Given the description of an element on the screen output the (x, y) to click on. 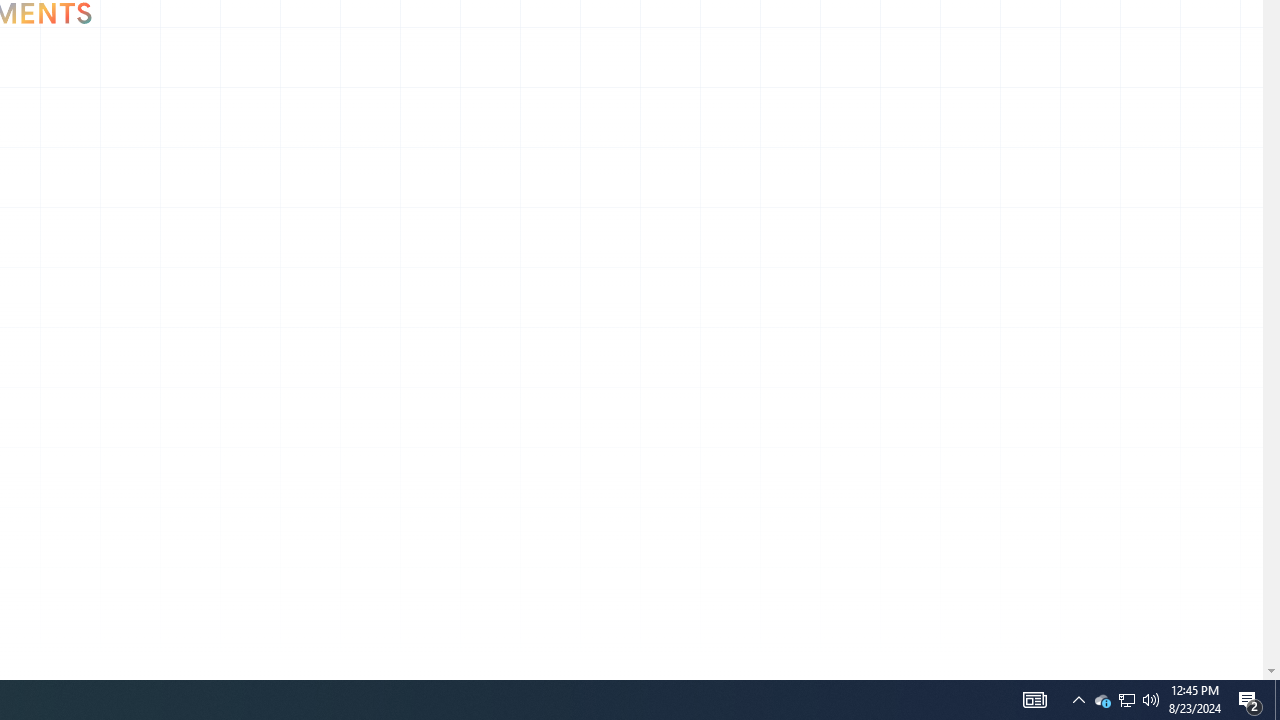
Go to Arts & Culture (140, 103)
Notification Chevron (1102, 699)
Show desktop (1078, 699)
Action Center, 2 new notifications (1126, 699)
Q2790: 100% (1277, 699)
AutomationID: 4105 (1250, 699)
User Promoted Notification Area (1151, 699)
